Given the description of an element on the screen output the (x, y) to click on. 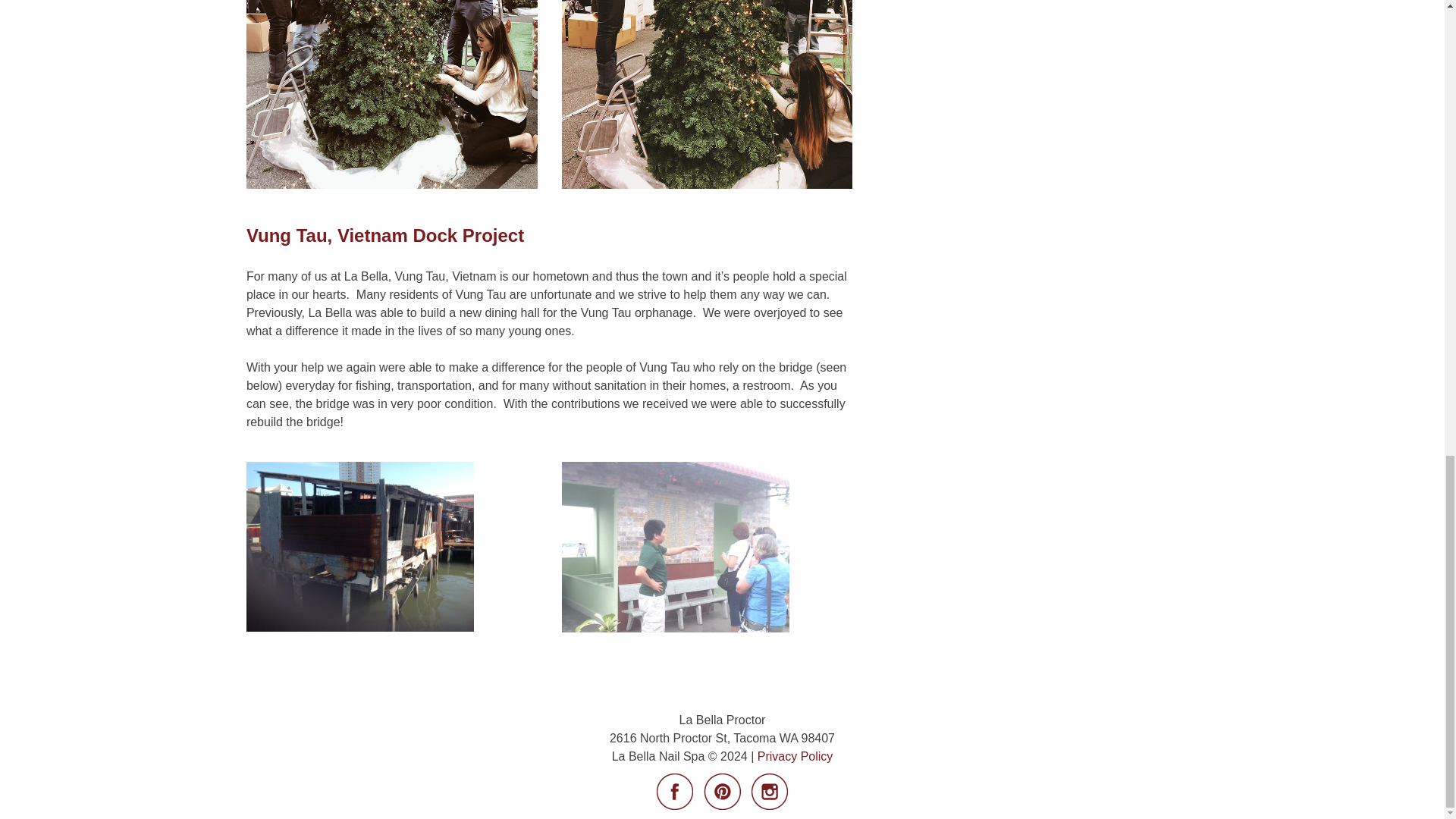
Privacy Policy (794, 756)
